Given the description of an element on the screen output the (x, y) to click on. 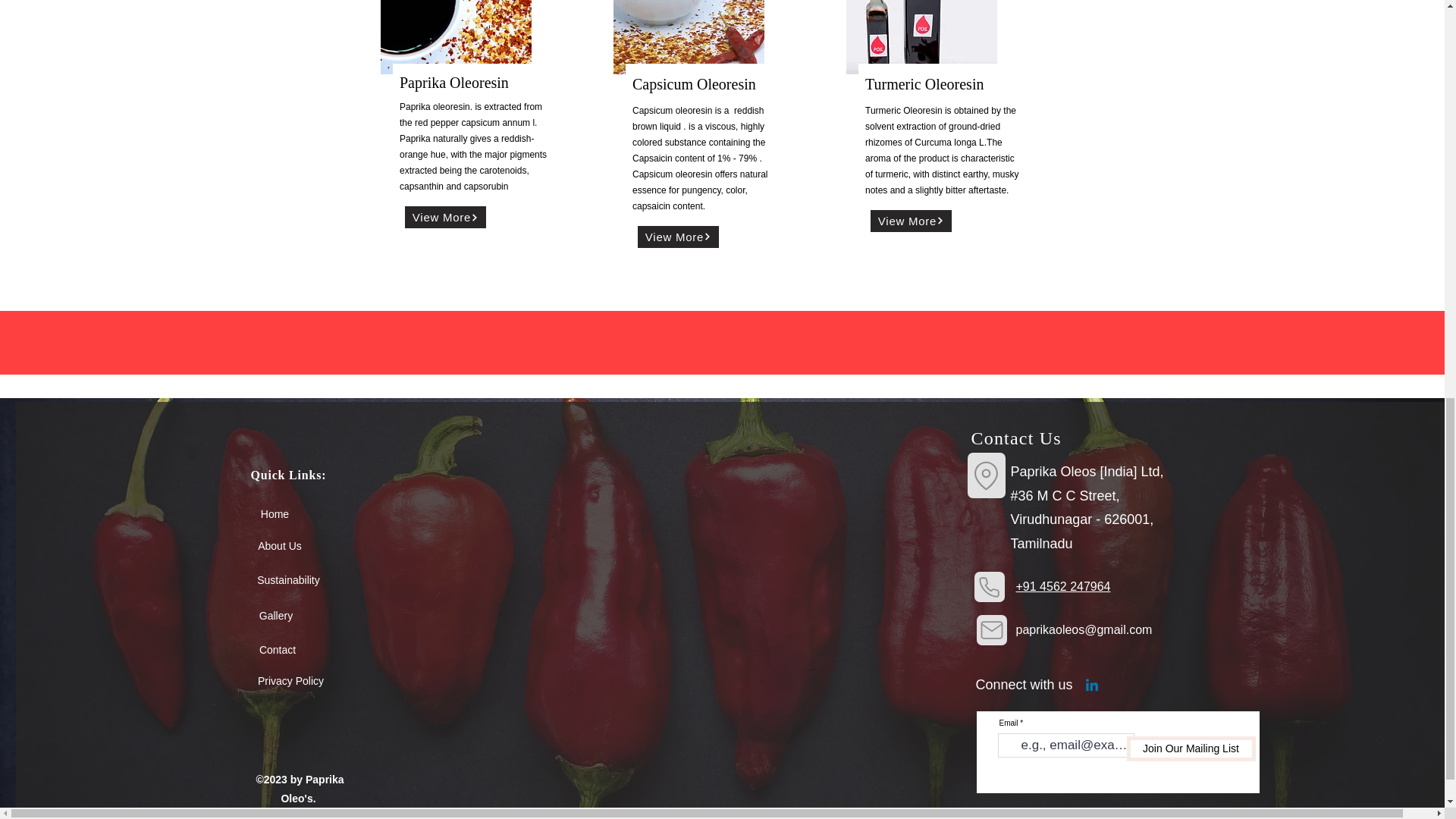
Contact (277, 649)
View More (911, 219)
Privacy Policy (290, 680)
About Us (279, 545)
Gallery (275, 615)
Join Our Mailing List (1190, 748)
View More (445, 217)
Home (275, 513)
View More (678, 237)
